Given the description of an element on the screen output the (x, y) to click on. 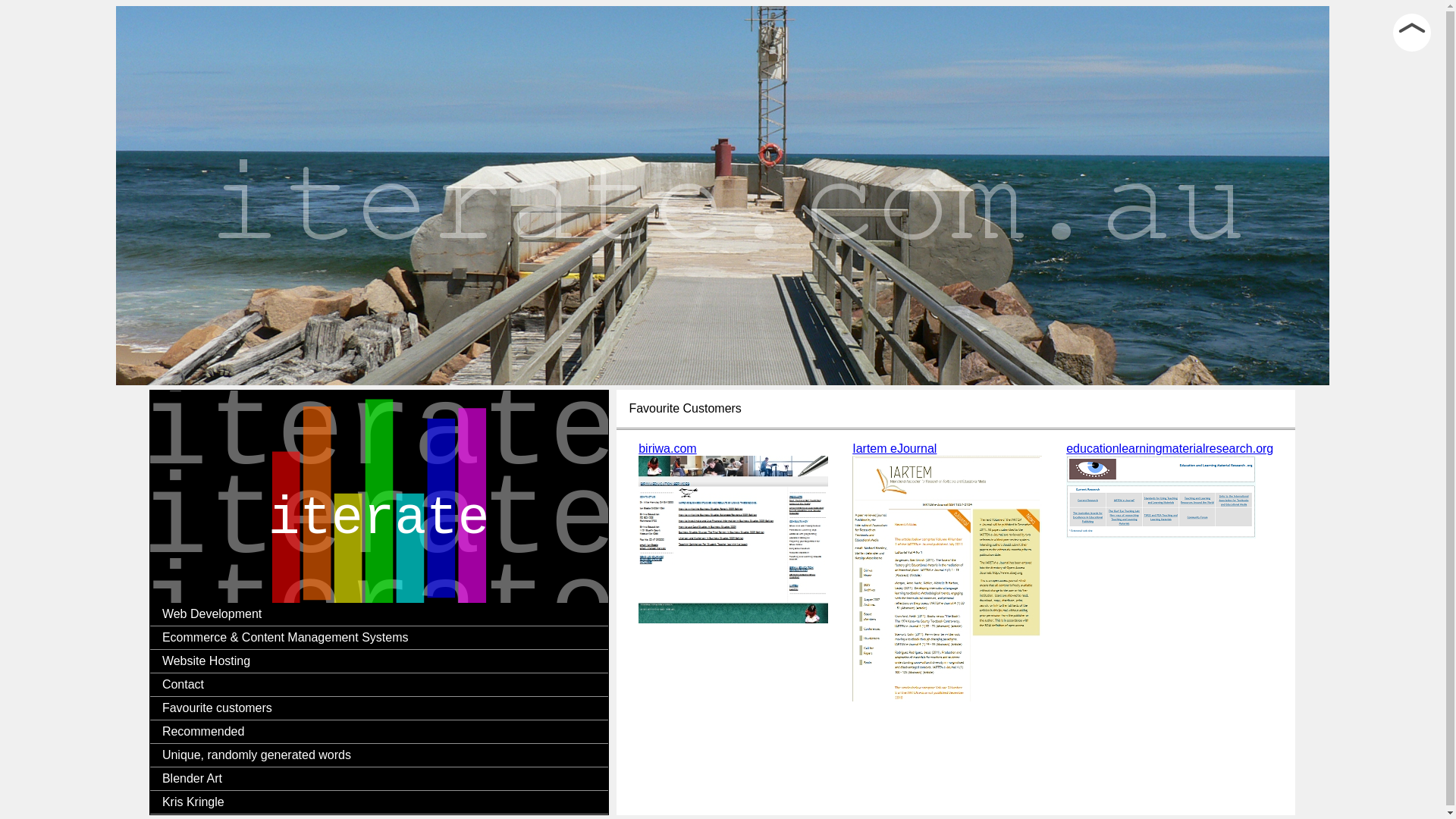
Iartem eJournal Element type: text (947, 572)
Website Hosting Element type: text (379, 661)
Favourite customers Element type: text (379, 708)
Recommended Element type: text (379, 731)
Ecommerce & Content Management Systems Element type: text (379, 637)
Web Development Element type: text (379, 614)
Contact Element type: text (379, 684)
Blender Art Element type: text (379, 778)
biriwa.com Element type: text (733, 572)
Unique, randomly generated words Element type: text (379, 755)
Kris Kringle Element type: text (379, 802)
educationlearningmaterialresearch.org Element type: text (1169, 572)
